Given the description of an element on the screen output the (x, y) to click on. 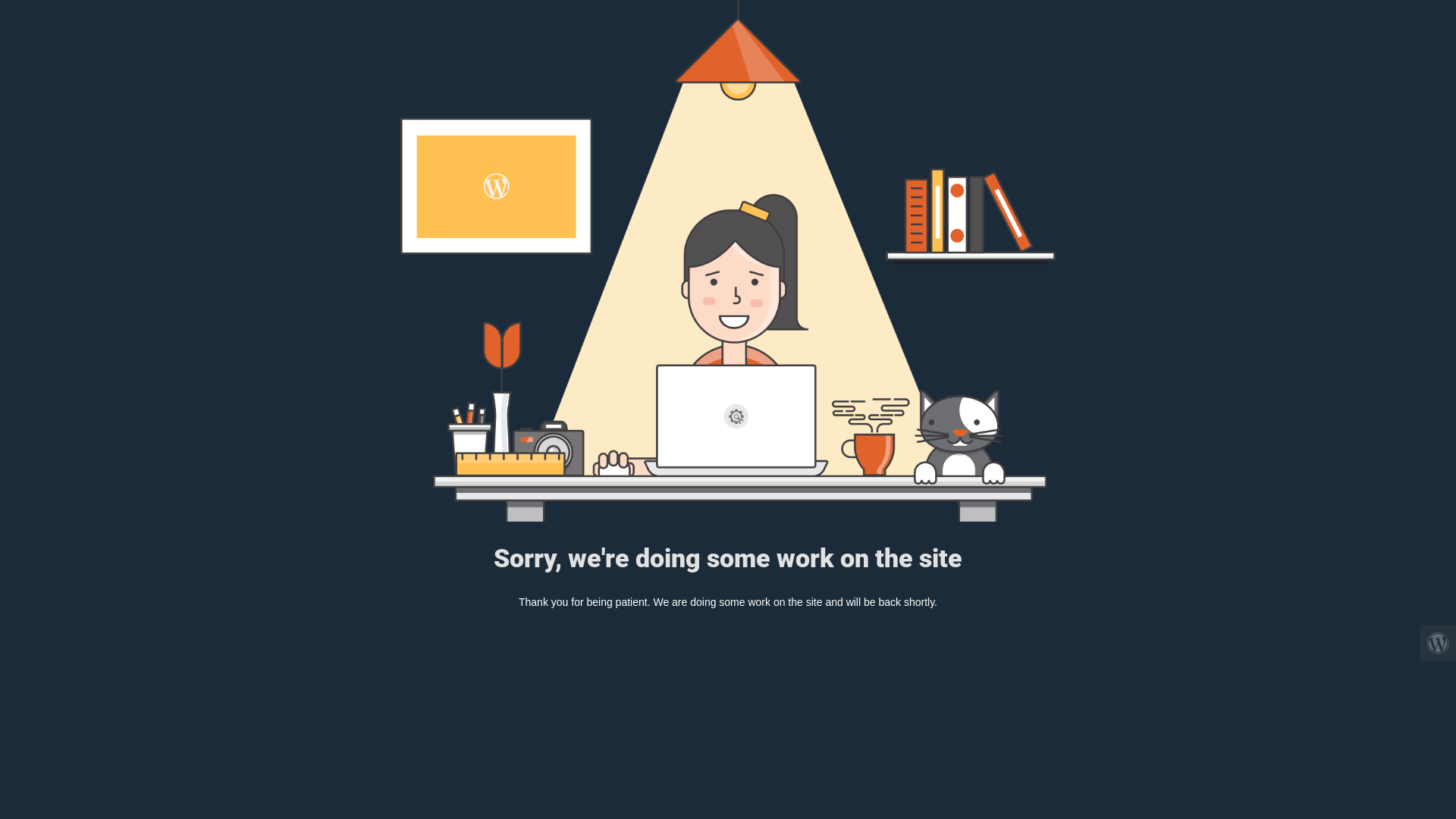
Cyber Chick at work in the dark Element type: hover (727, 260)
